Given the description of an element on the screen output the (x, y) to click on. 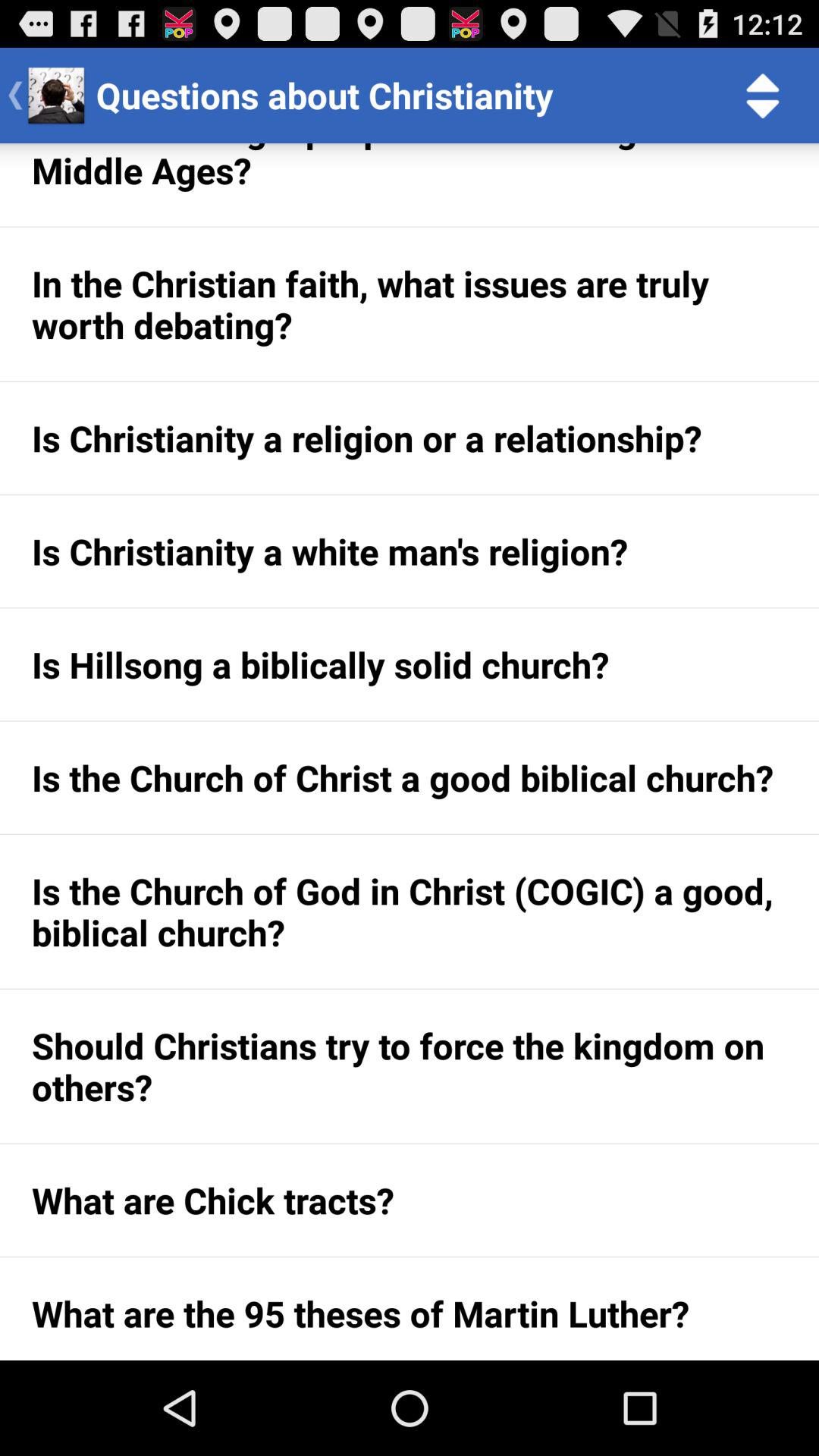
choose the item below the is the church app (409, 1066)
